Given the description of an element on the screen output the (x, y) to click on. 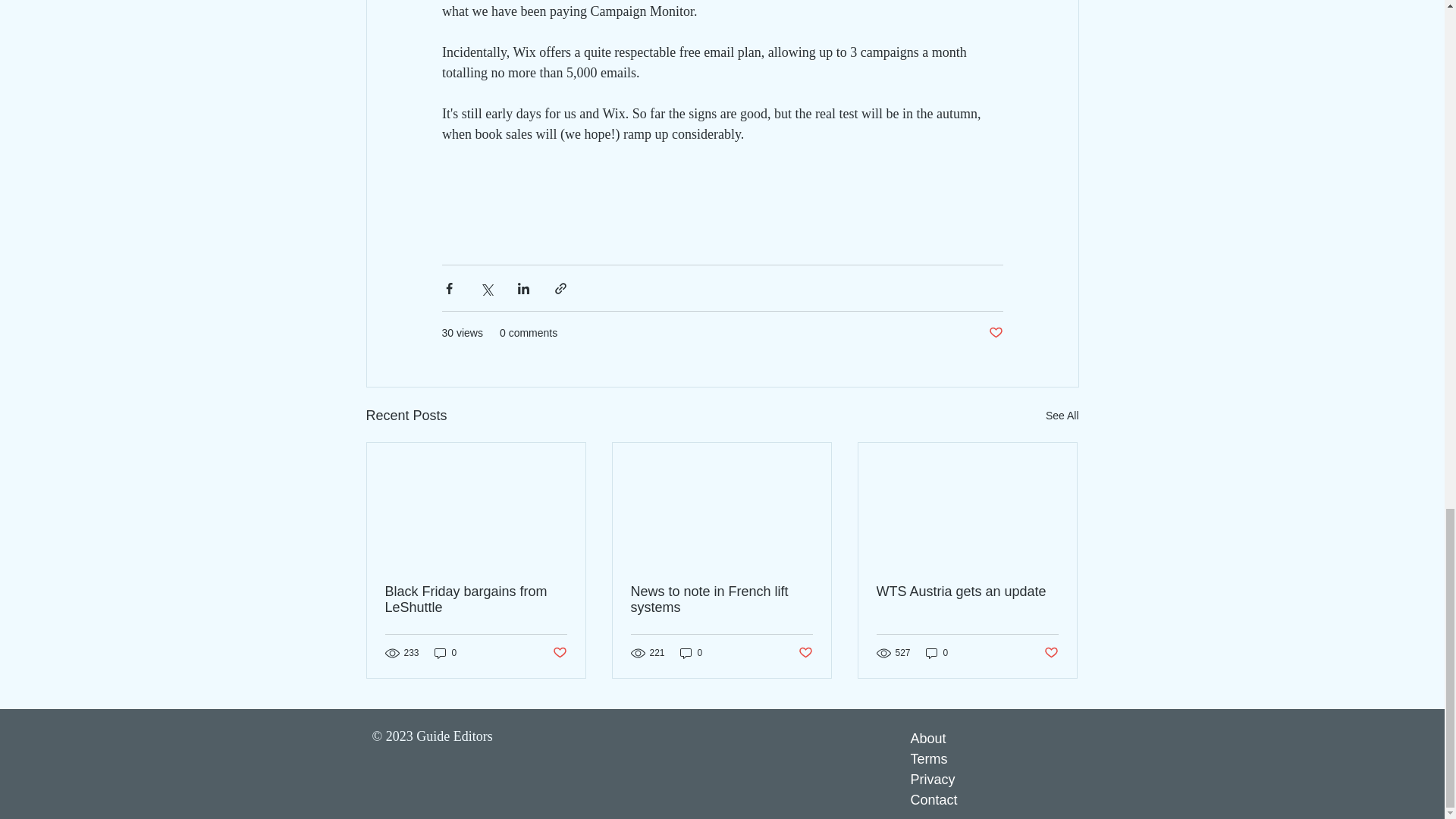
0 (691, 653)
Privacy (932, 779)
Post not marked as liked (804, 652)
WTS Austria gets an update (967, 591)
Black Friday bargains from LeShuttle (476, 599)
Terms (928, 758)
0 (937, 653)
Post not marked as liked (995, 333)
News to note in French lift systems (721, 599)
See All (1061, 415)
Contact (933, 799)
0 (445, 653)
Post not marked as liked (1050, 652)
Post not marked as liked (558, 652)
About (927, 738)
